Given the description of an element on the screen output the (x, y) to click on. 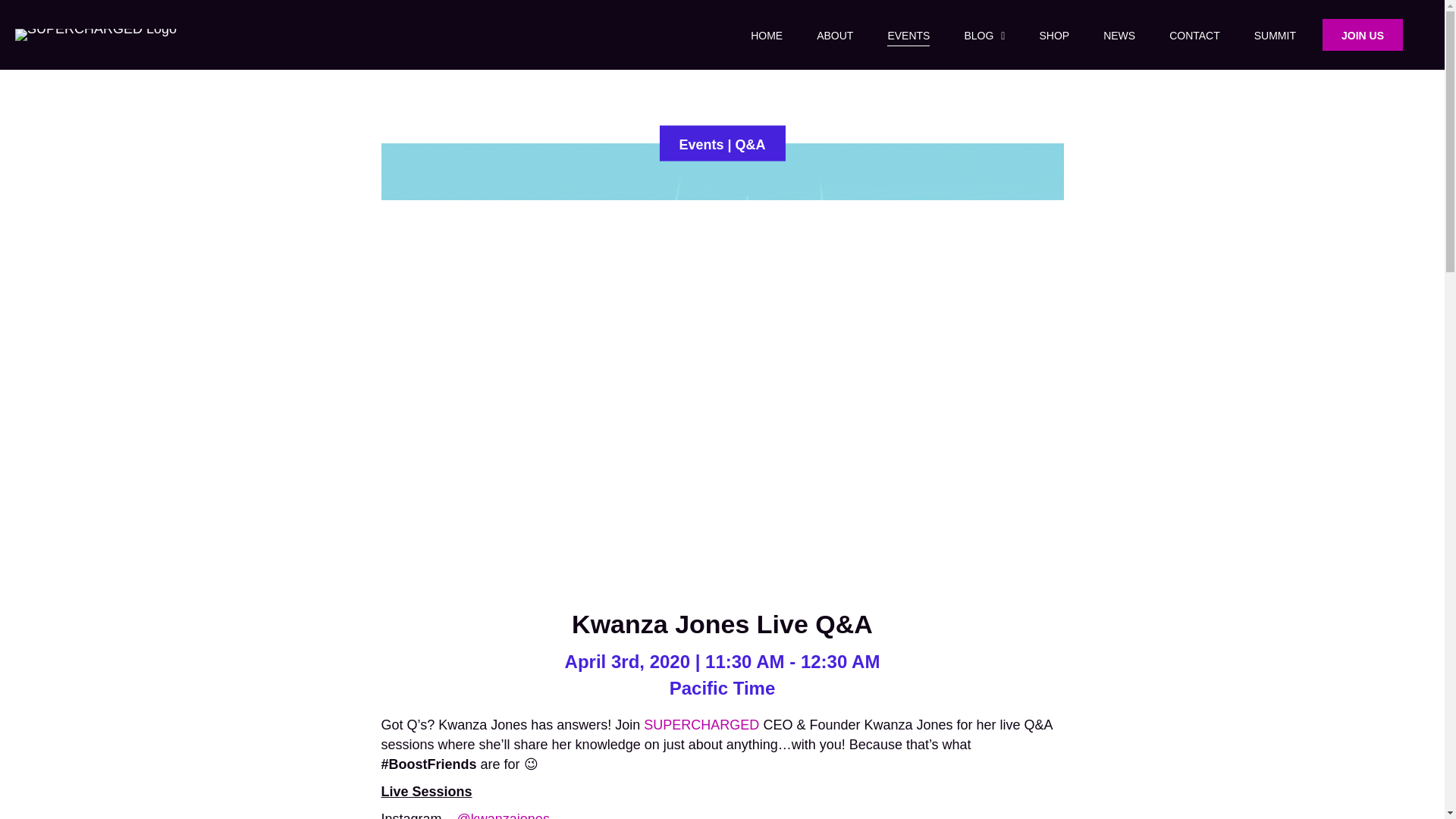
SHOP (1053, 35)
BLOG (983, 35)
EVENTS (908, 35)
HOME (766, 35)
SUPERCHARGED (700, 724)
SUMMIT (1274, 35)
CONTACT (1194, 35)
ABOUT (834, 35)
Events (700, 143)
SUPERCHARGED-Logo-header (109, 34)
